Given the description of an element on the screen output the (x, y) to click on. 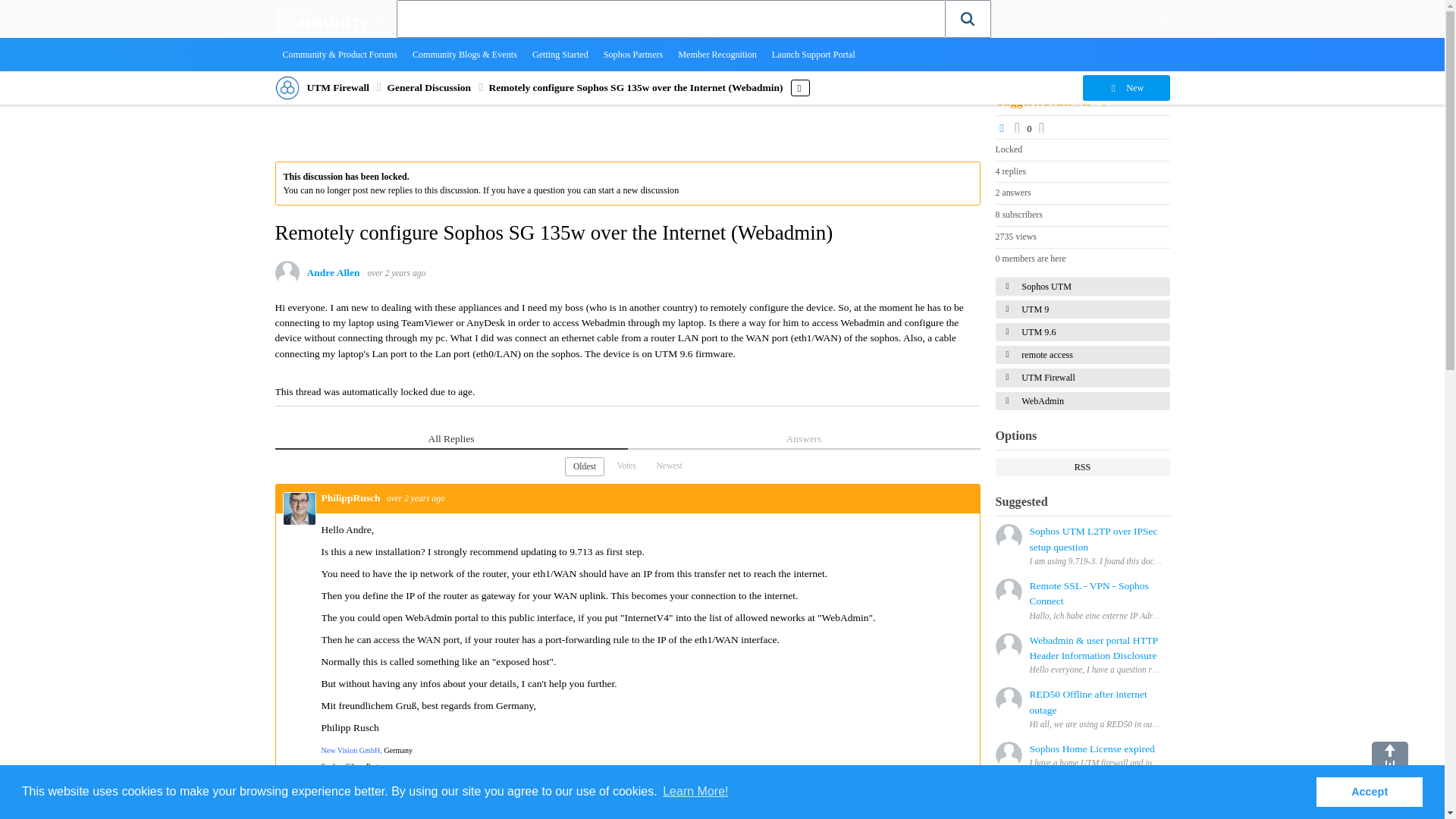
Member Recognition (716, 54)
Launch Support Portal (813, 54)
Groups (384, 18)
UTM Firewall (337, 87)
Sophos Partners (633, 54)
Learn More! (695, 791)
Join or sign in (1161, 17)
User (1161, 17)
Getting Started (559, 54)
Accept (1369, 791)
